Given the description of an element on the screen output the (x, y) to click on. 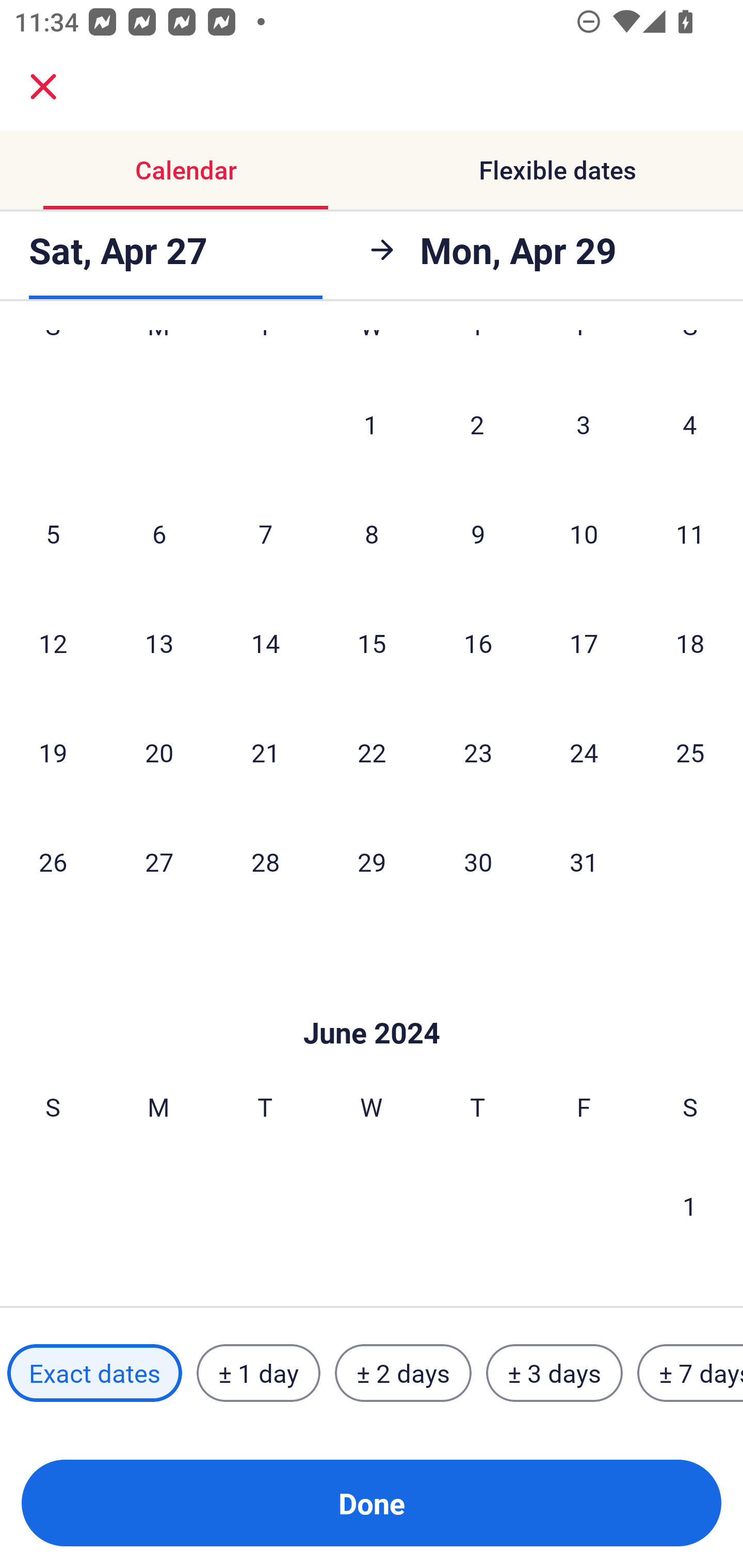
close. (43, 86)
Flexible dates (557, 170)
1 Wednesday, May 1, 2024 (371, 423)
2 Thursday, May 2, 2024 (477, 423)
3 Friday, May 3, 2024 (583, 423)
4 Saturday, May 4, 2024 (689, 423)
5 Sunday, May 5, 2024 (53, 533)
6 Monday, May 6, 2024 (159, 533)
7 Tuesday, May 7, 2024 (265, 533)
8 Wednesday, May 8, 2024 (371, 533)
9 Thursday, May 9, 2024 (477, 533)
10 Friday, May 10, 2024 (584, 533)
11 Saturday, May 11, 2024 (690, 533)
12 Sunday, May 12, 2024 (53, 642)
13 Monday, May 13, 2024 (159, 642)
14 Tuesday, May 14, 2024 (265, 642)
15 Wednesday, May 15, 2024 (371, 642)
16 Thursday, May 16, 2024 (477, 642)
17 Friday, May 17, 2024 (584, 642)
18 Saturday, May 18, 2024 (690, 642)
19 Sunday, May 19, 2024 (53, 751)
20 Monday, May 20, 2024 (159, 751)
21 Tuesday, May 21, 2024 (265, 751)
22 Wednesday, May 22, 2024 (371, 751)
23 Thursday, May 23, 2024 (477, 751)
24 Friday, May 24, 2024 (584, 751)
25 Saturday, May 25, 2024 (690, 751)
26 Sunday, May 26, 2024 (53, 861)
27 Monday, May 27, 2024 (159, 861)
28 Tuesday, May 28, 2024 (265, 861)
29 Wednesday, May 29, 2024 (371, 861)
30 Thursday, May 30, 2024 (477, 861)
31 Friday, May 31, 2024 (584, 861)
Skip to Done (371, 1002)
1 Saturday, June 1, 2024 (689, 1205)
Exact dates (94, 1372)
± 1 day (258, 1372)
± 2 days (403, 1372)
± 3 days (553, 1372)
± 7 days (690, 1372)
Done (371, 1502)
